Given the description of an element on the screen output the (x, y) to click on. 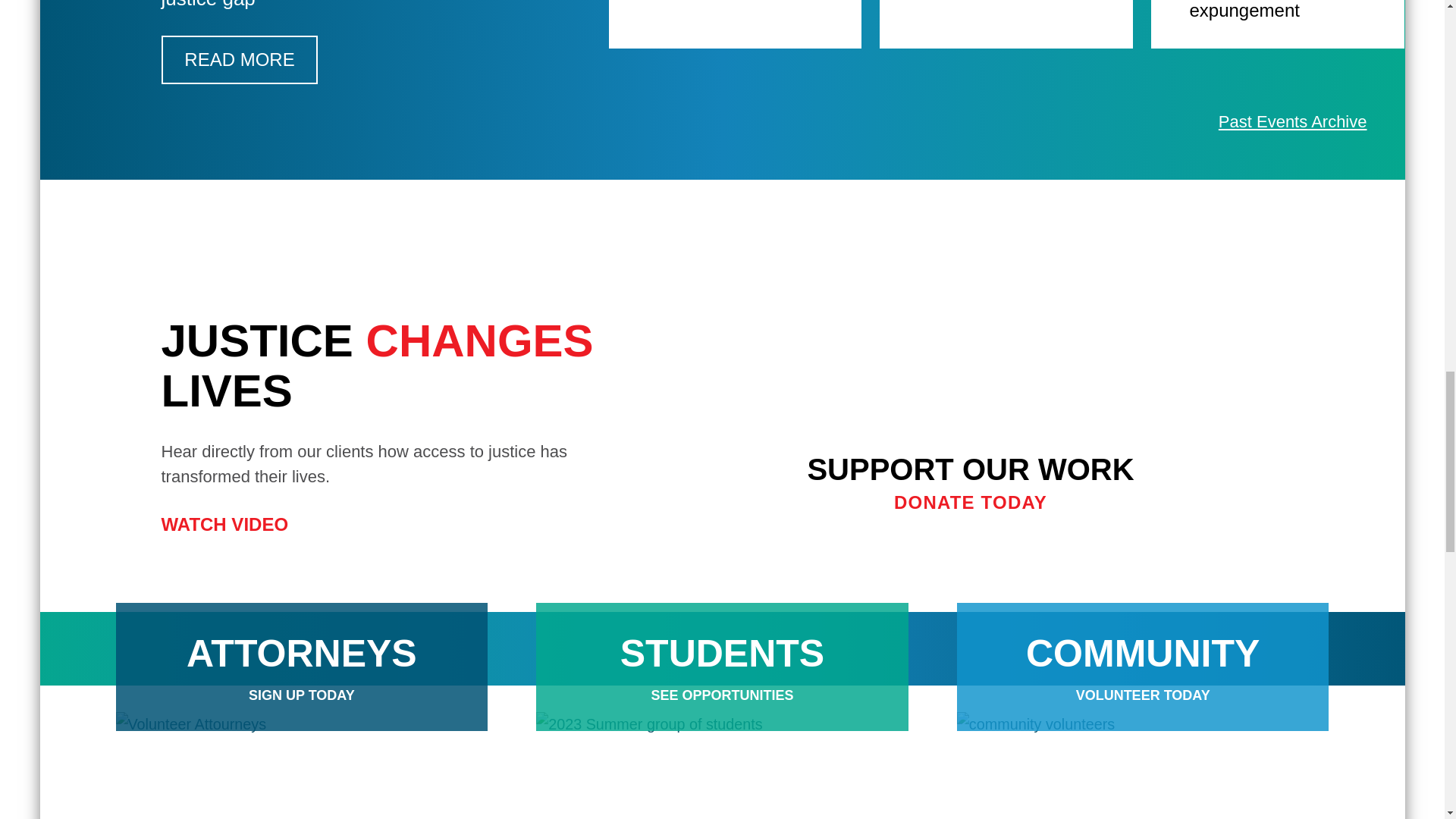
Utilizing technology to bridge the justice gap (328, 13)
READ MORE (238, 60)
